Given the description of an element on the screen output the (x, y) to click on. 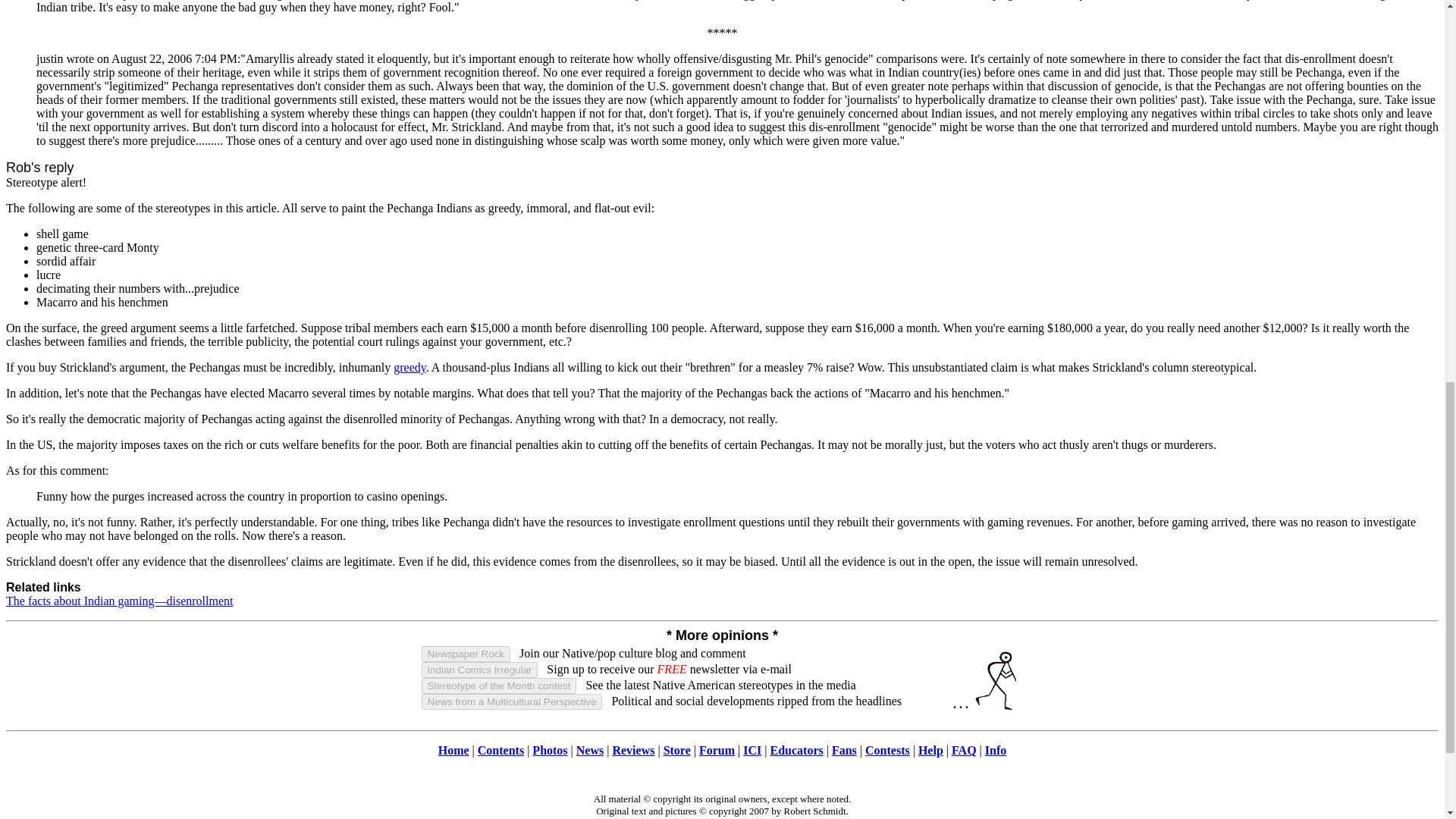
Stereotype of the Month contest (499, 685)
Fans (844, 749)
Indian Comics Irregular (480, 669)
News (590, 749)
Info (995, 749)
Newspaper Rock (466, 653)
Contests (887, 749)
Photos (549, 749)
ICI (751, 749)
Help (930, 749)
greedy (409, 367)
News from a Multicultural Perspective (512, 701)
FAQ (964, 749)
Home (453, 749)
Store (676, 749)
